Given the description of an element on the screen output the (x, y) to click on. 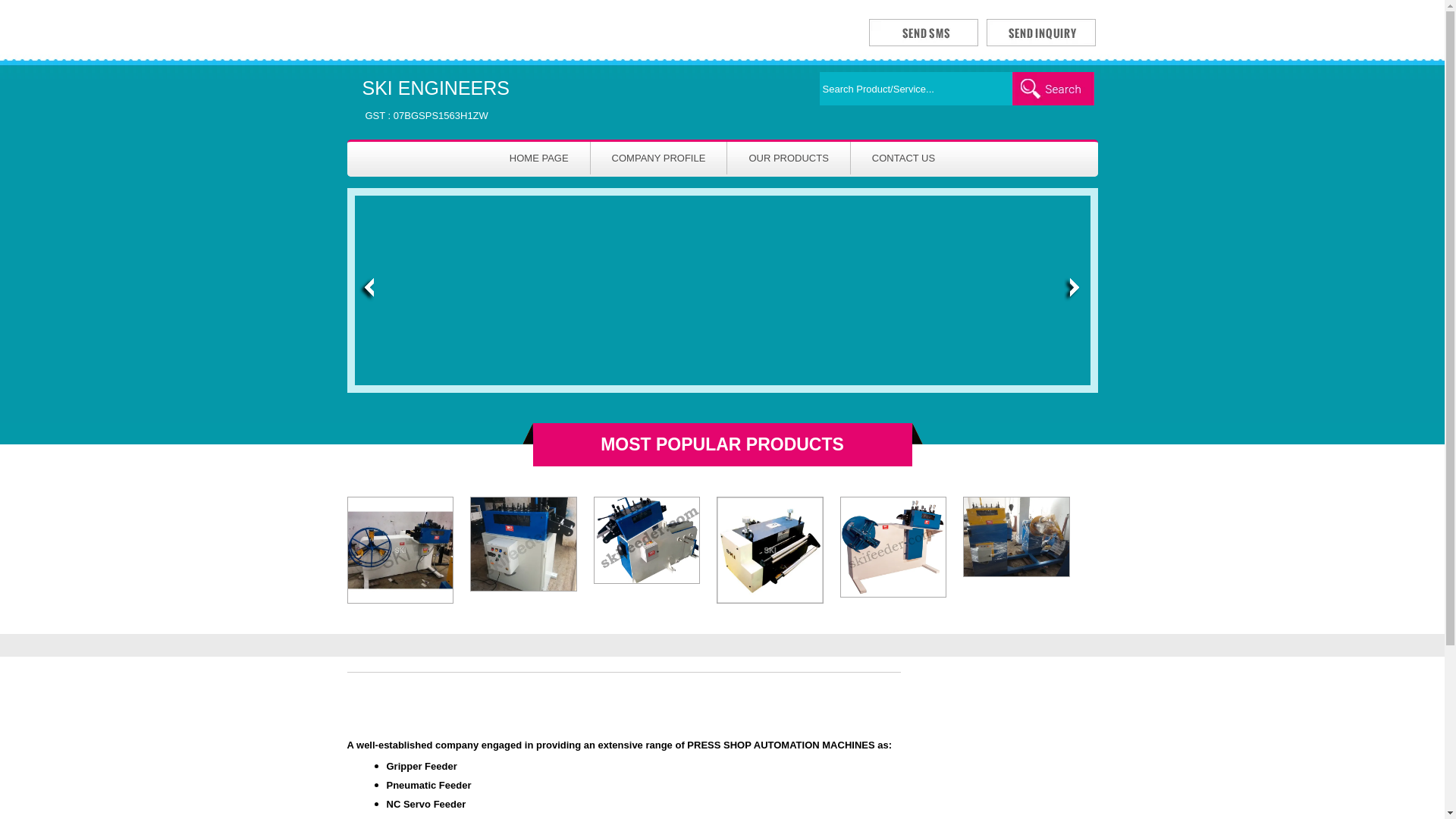
Decoiler Straightener (646, 542)
Decoiler Straightening Machines (893, 547)
HOME PAGE (538, 157)
COMPANY PROFILE (658, 157)
Precision Straightener (523, 542)
Three In One Decoiler (1015, 536)
Industrial Uncoiler Strip Straightener (400, 542)
NC Feeder Servo Roll Feeder (769, 549)
Decoiler Straightening Machines (892, 550)
submit (1052, 88)
Three In One Decoiler (1016, 542)
OUR PRODUCTS (787, 157)
Decoiler Straightener (647, 540)
Precision Straightener (436, 99)
